Given the description of an element on the screen output the (x, y) to click on. 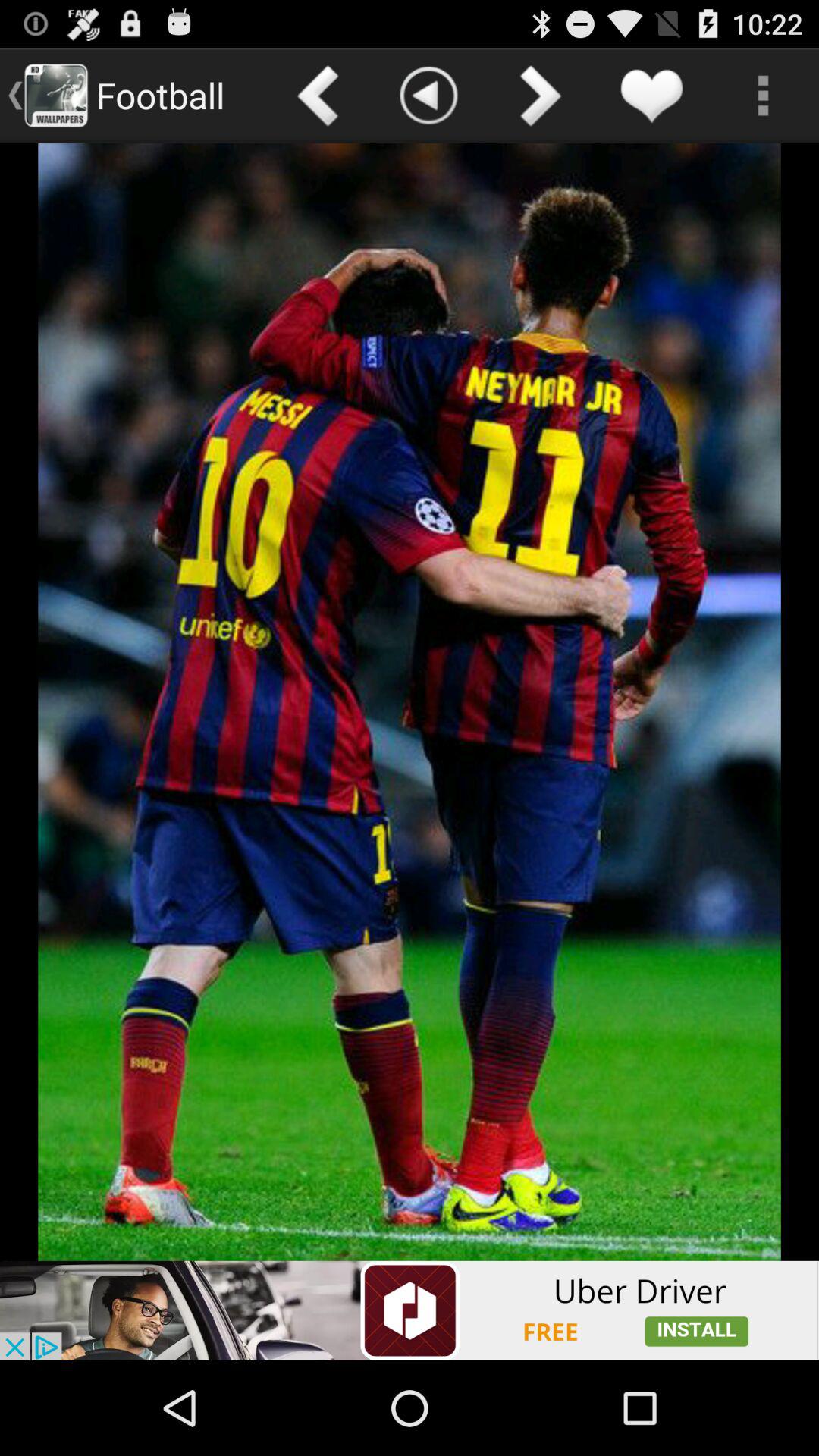
uber app (409, 1310)
